Given the description of an element on the screen output the (x, y) to click on. 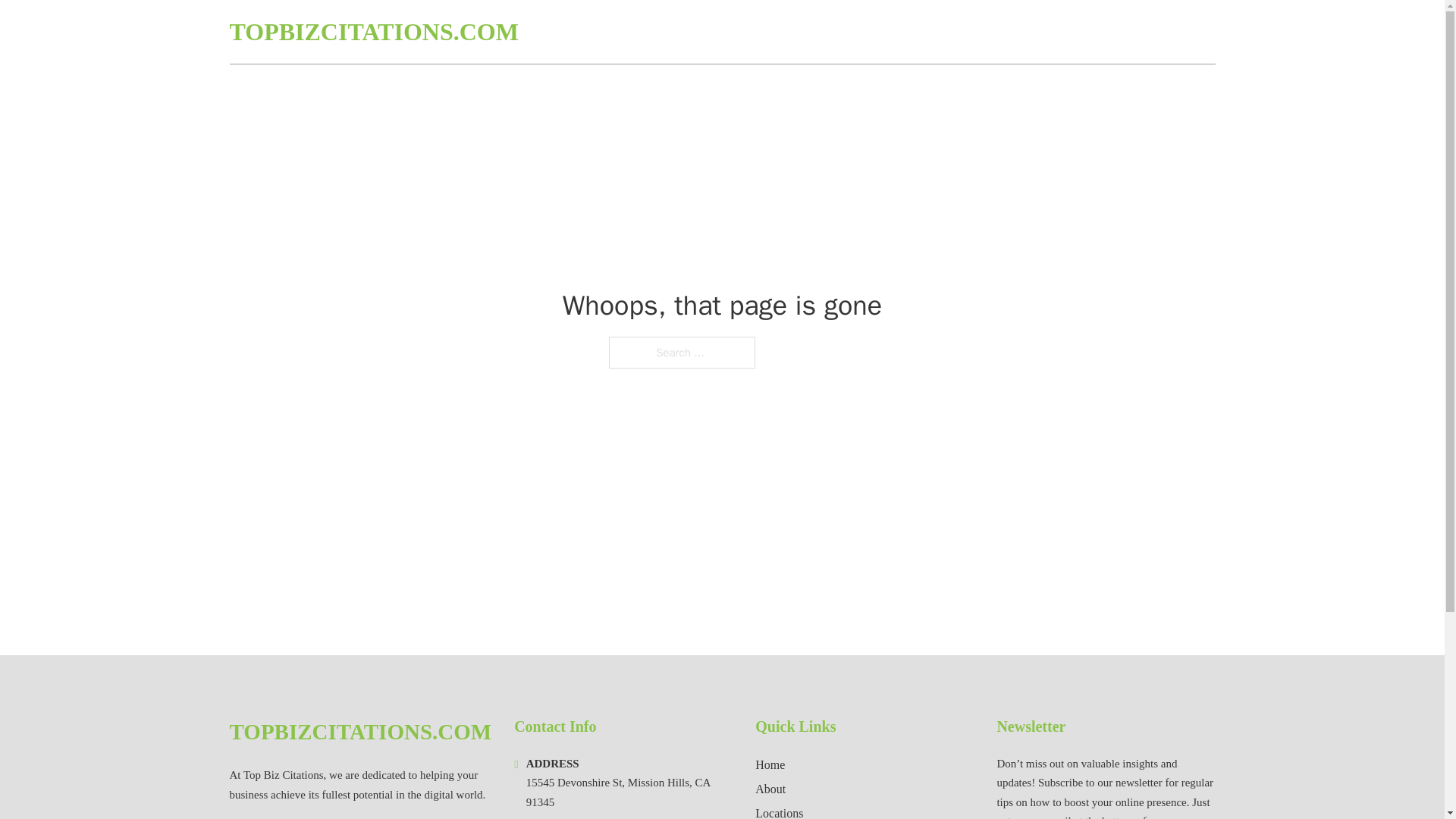
Home (769, 764)
TOPBIZCITATIONS.COM (373, 31)
HOME (1032, 31)
LOCATIONS (1105, 31)
About (770, 788)
Locations (779, 811)
TOPBIZCITATIONS.COM (360, 732)
